Given the description of an element on the screen output the (x, y) to click on. 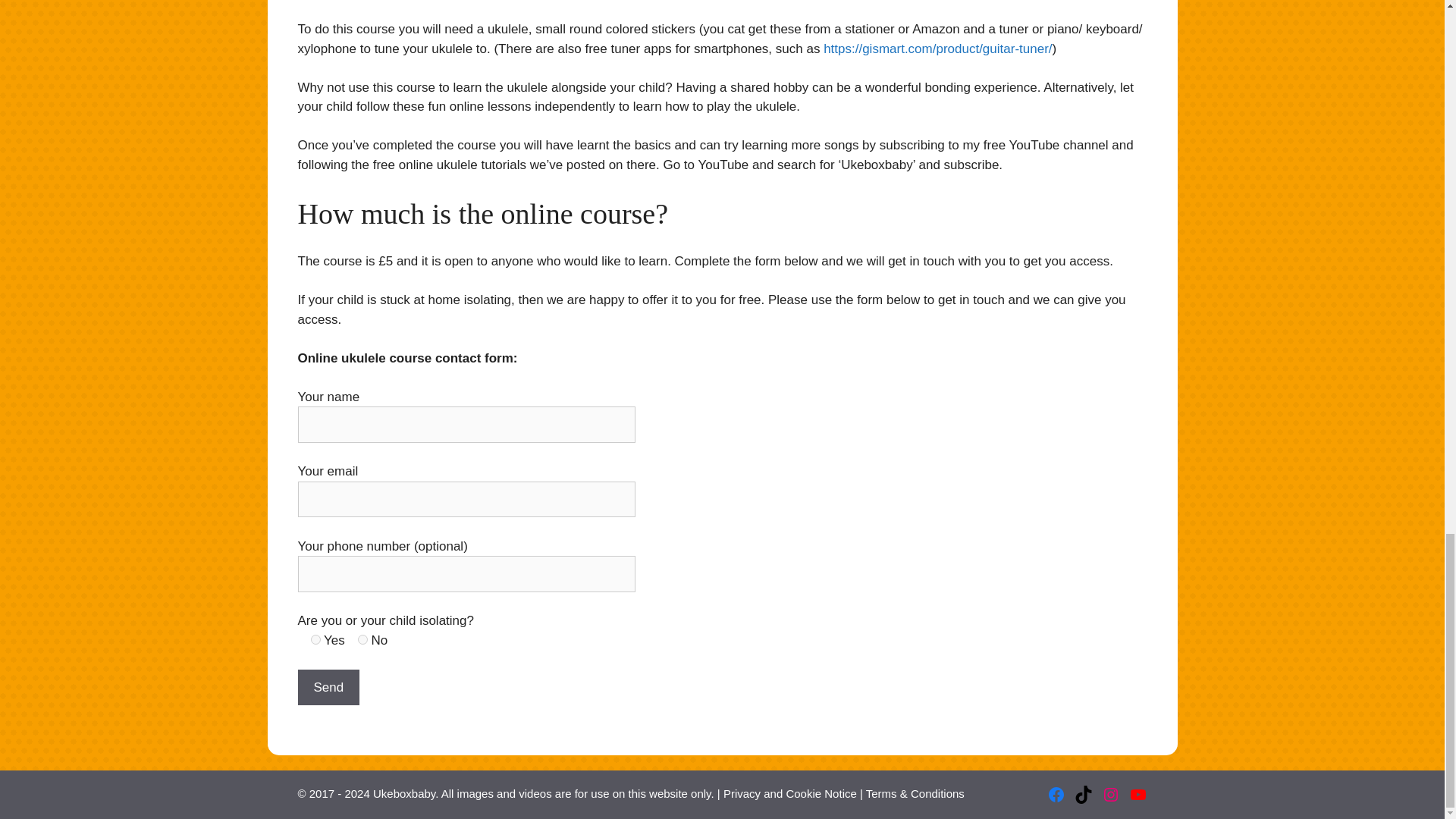
TikTok (1083, 794)
Yes (315, 639)
Facebook (1055, 794)
Privacy and Cookie Notice (790, 793)
Send (328, 687)
No (363, 639)
Instagram (1109, 794)
Send (328, 687)
YouTube (1137, 794)
